Given the description of an element on the screen output the (x, y) to click on. 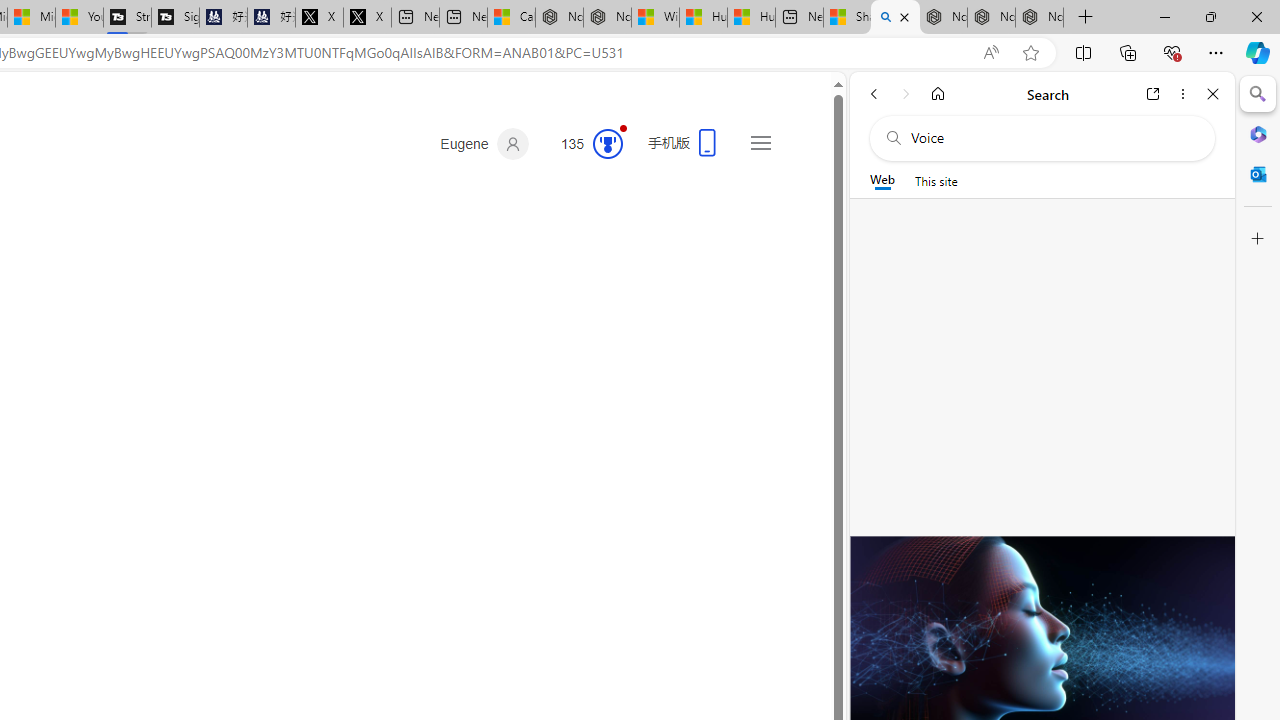
Web scope (882, 180)
